Given the description of an element on the screen output the (x, y) to click on. 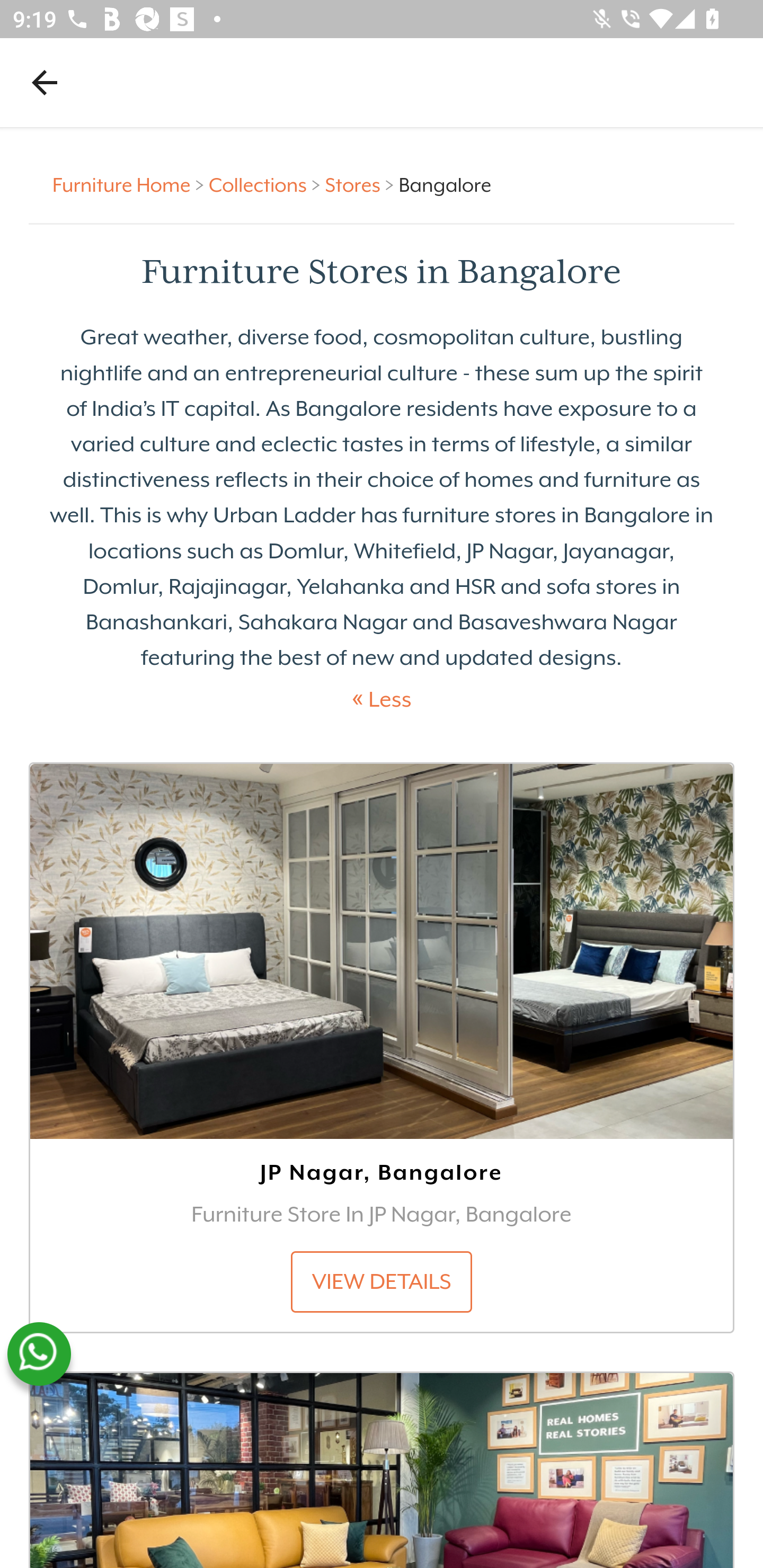
Navigate up (44, 82)
Furniture Home >  Furniture Home  >  (130, 184)
Collections >  Collections  >  (266, 184)
Stores >  Stores  >  (361, 184)
« Less (381, 700)
VIEW DETAILS (381, 1281)
whatsapp (38, 1353)
